Given the description of an element on the screen output the (x, y) to click on. 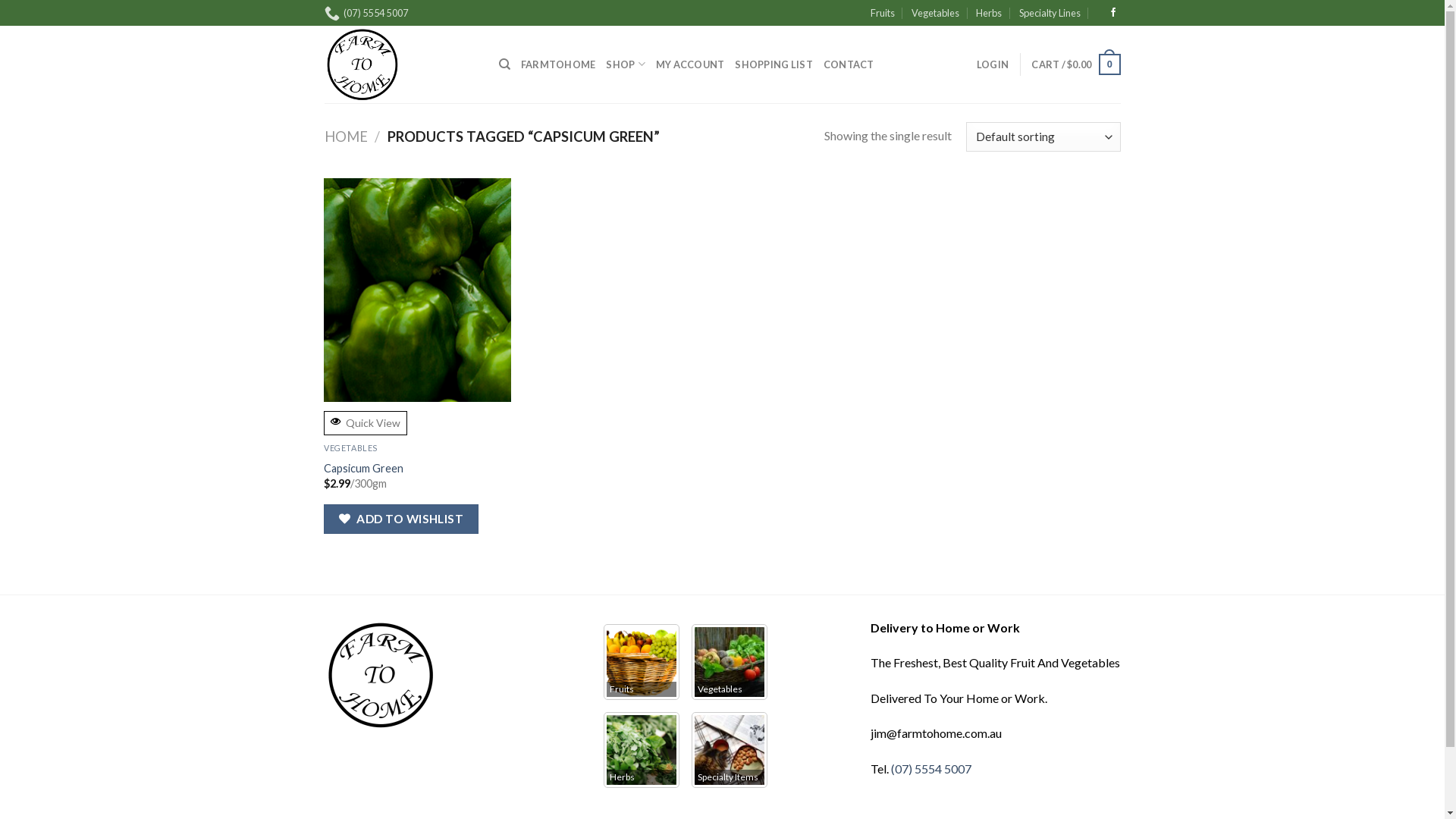
LOGIN Element type: text (992, 64)
MY ACCOUNT Element type: text (689, 64)
(07) 5554 5007 Element type: text (366, 12)
Fruits Element type: text (882, 12)
FARMTOHOME Element type: text (558, 64)
Vegetables Element type: text (935, 12)
SHOPPING LIST Element type: text (773, 64)
Quick View Element type: text (365, 423)
HOME Element type: text (345, 136)
SHOP Element type: text (624, 63)
CONTACT Element type: text (848, 64)
Vegetables Element type: text (729, 661)
Herbs Element type: text (641, 749)
Follow on Facebook Element type: hover (1112, 12)
Fruits Element type: text (641, 661)
VEGETABLES Element type: text (349, 447)
Specialty Lines Element type: text (1049, 12)
CART / $0.00
0 Element type: text (1075, 64)
ADD TO WISHLIST Element type: text (400, 518)
Specialty Items Element type: text (729, 749)
(07) 5554 5007 Element type: text (930, 768)
Capsicum Green Element type: text (363, 468)
Herbs Element type: text (988, 12)
